Given the description of an element on the screen output the (x, y) to click on. 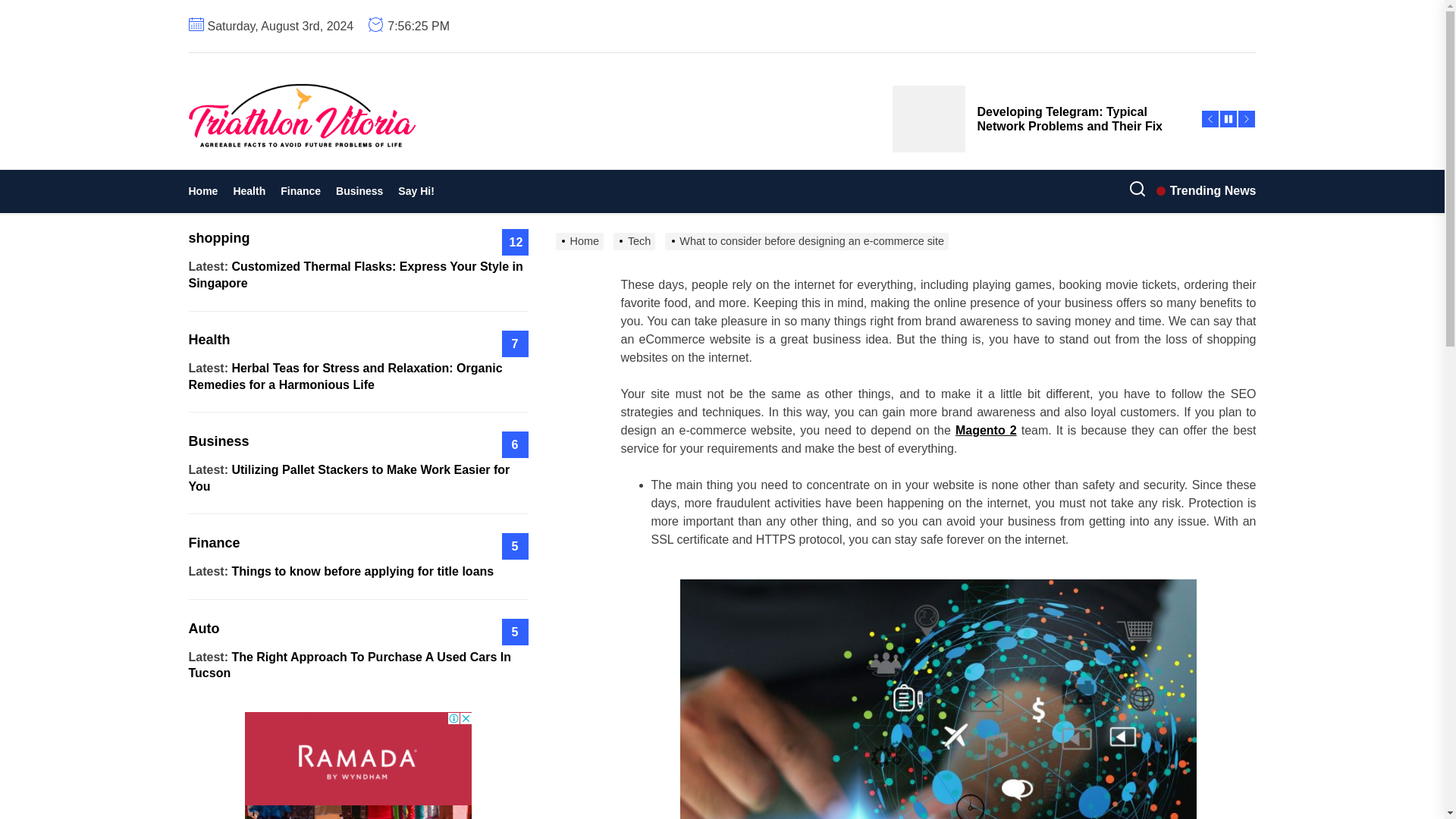
Developing Telegram: Typical Network Problems and Their Fix (1036, 119)
TRIATHLON VITORIA (389, 173)
Business (359, 190)
Developing Telegram: Typical Network Problems and Their Fix (1036, 119)
Health (249, 190)
Trending News (1206, 190)
Say Hi! (415, 190)
Finance (301, 190)
